Given the description of an element on the screen output the (x, y) to click on. 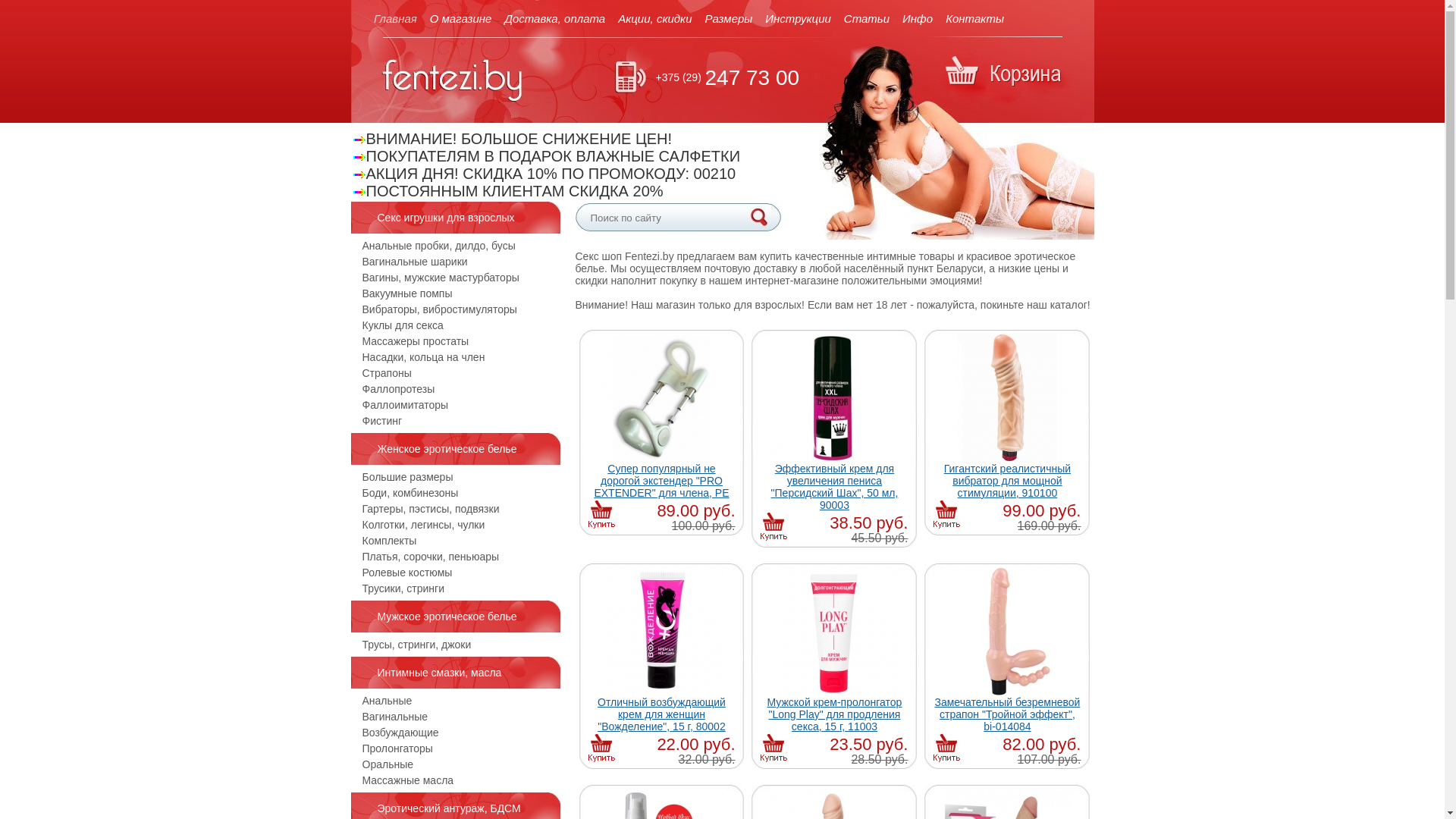
+375 (29) Element type: text (677, 77)
247 73 00 Element type: text (752, 77)
